Given the description of an element on the screen output the (x, y) to click on. 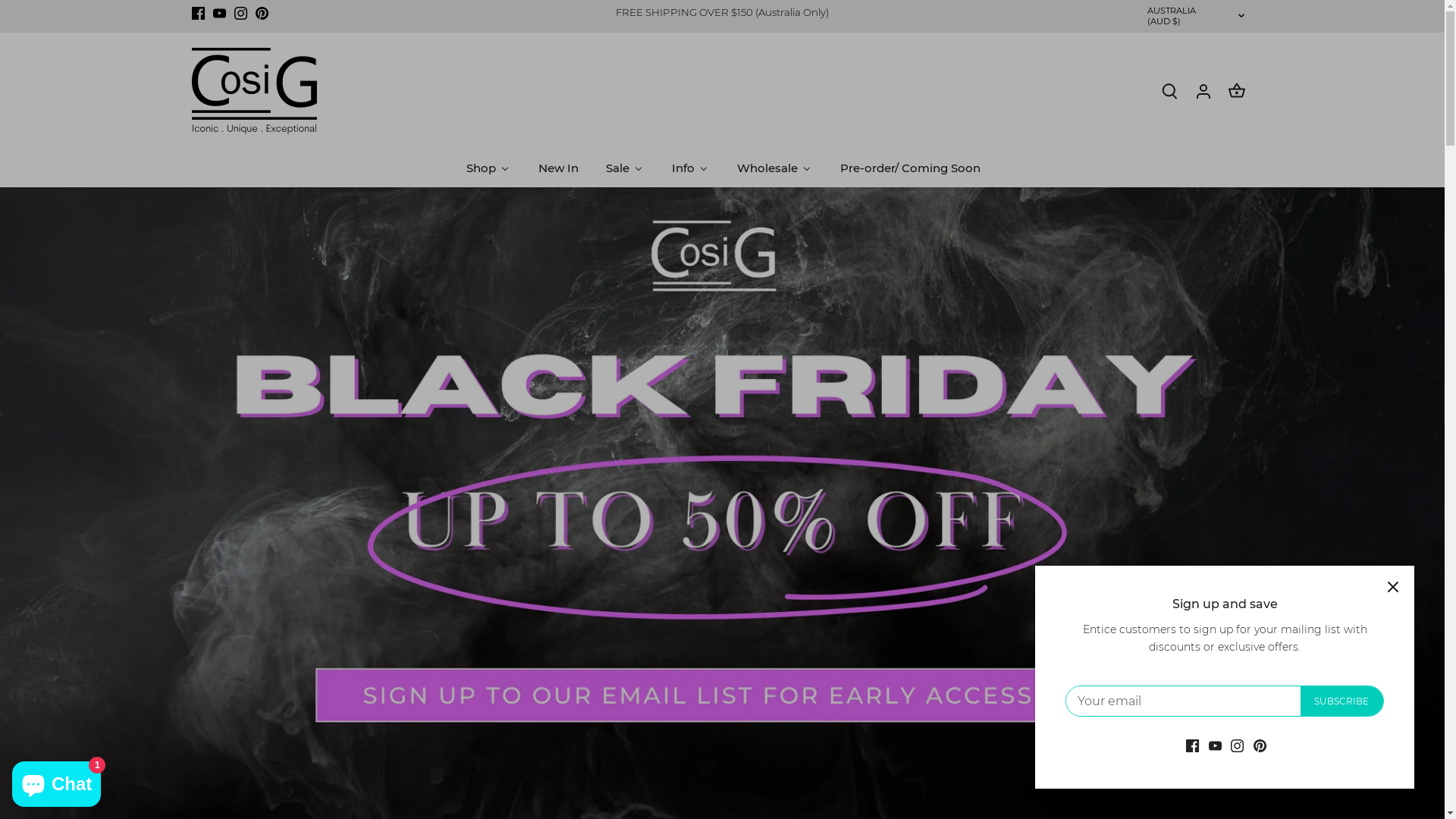
Go to cart Element type: hover (1235, 90)
Pre-order/ Coming Soon Element type: text (908, 168)
SUBSCRIBE Element type: text (1341, 700)
Shopify online store chat Element type: hover (56, 780)
Wholesale Element type: text (773, 168)
Info Element type: text (688, 168)
Pinterest Element type: text (261, 12)
AUSTRALIA (AUD $) Element type: text (1196, 16)
New In Element type: text (556, 168)
Youtube Element type: text (219, 12)
Instagram Element type: text (240, 12)
Sale Element type: text (624, 168)
Facebook Element type: text (197, 12)
Shop Element type: text (487, 168)
